Given the description of an element on the screen output the (x, y) to click on. 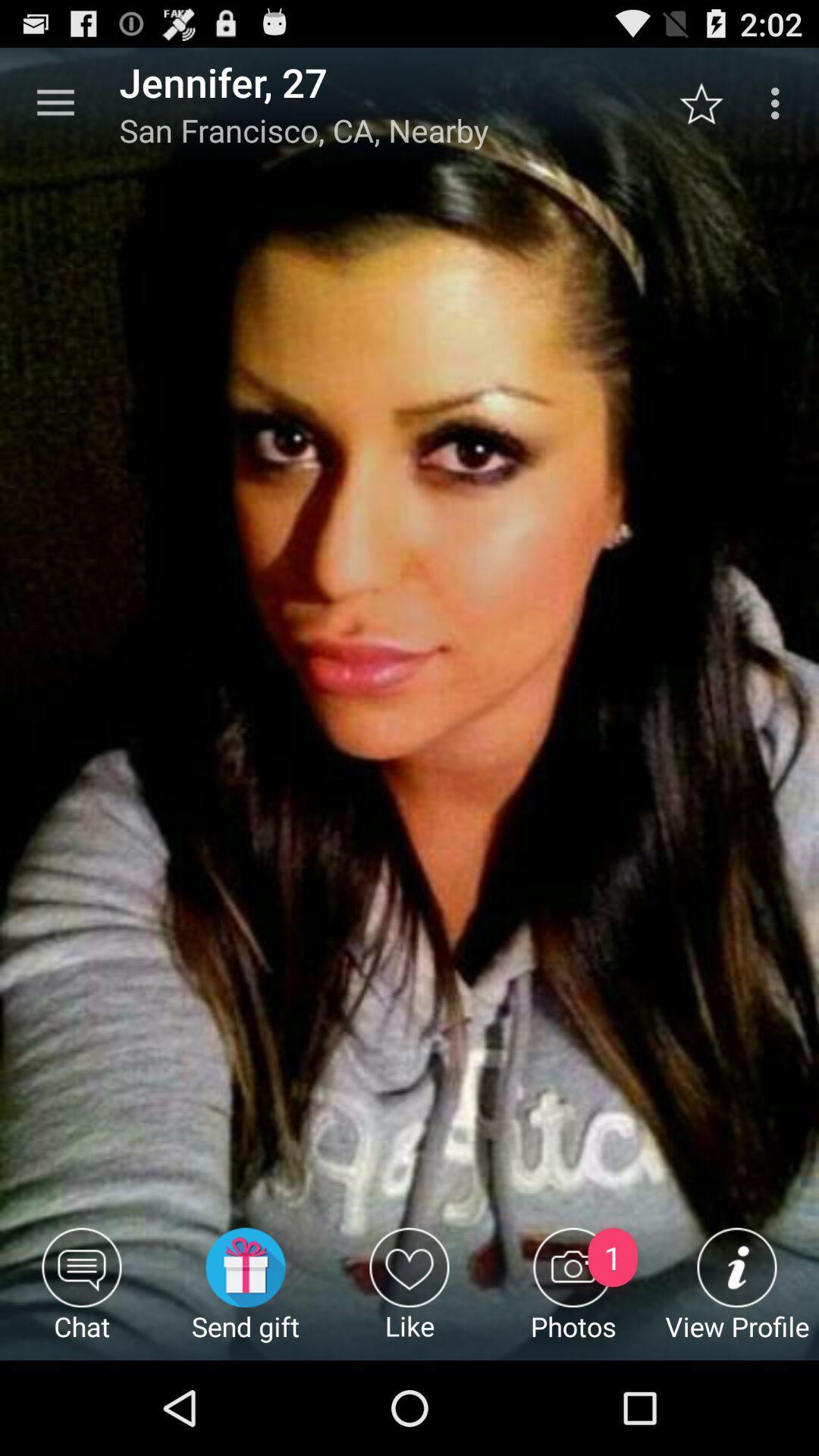
select icon to the right of the chat item (245, 1293)
